Given the description of an element on the screen output the (x, y) to click on. 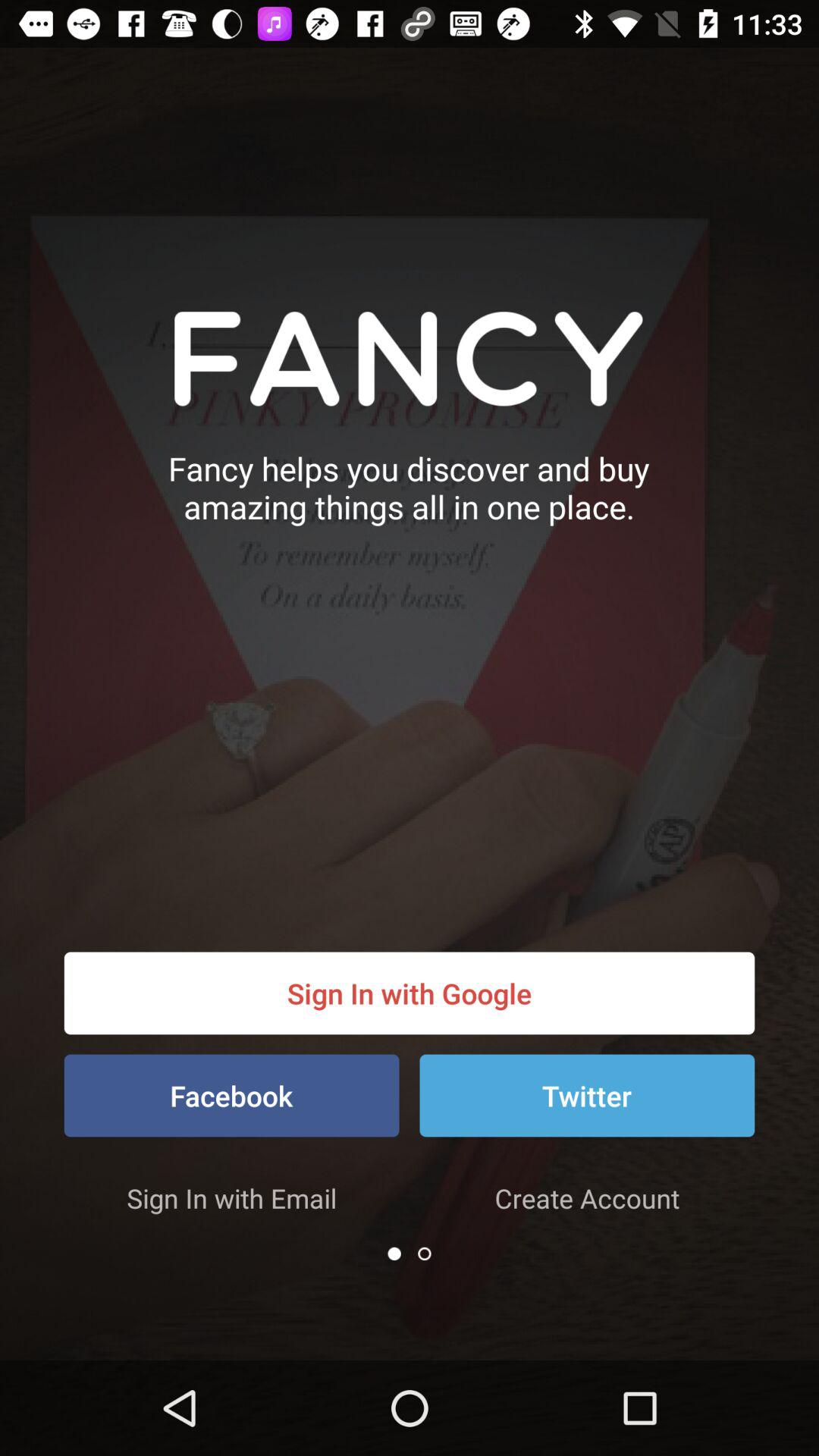
choose the create account icon (586, 1197)
